Given the description of an element on the screen output the (x, y) to click on. 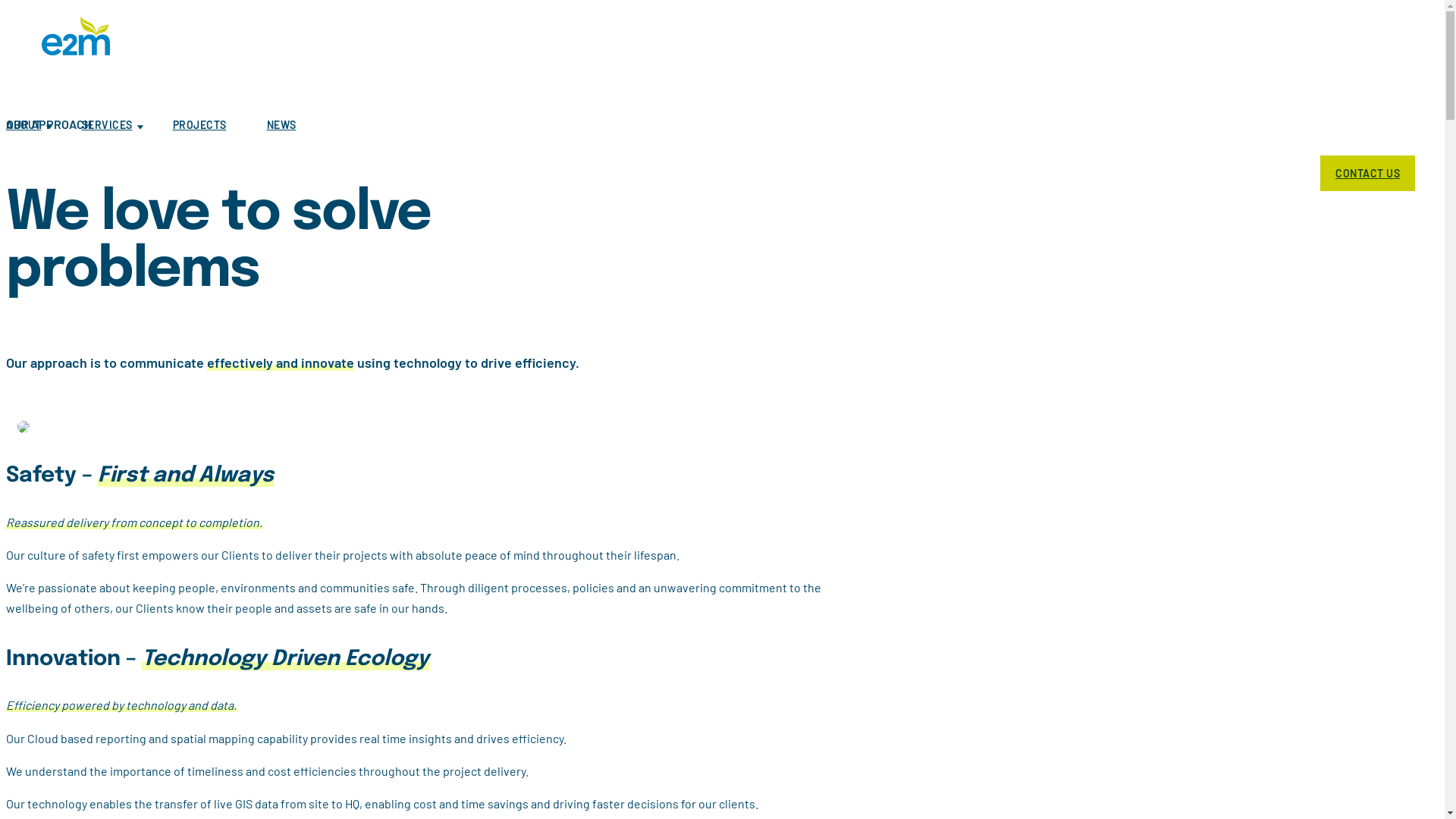
SERVICES Element type: text (125, 118)
PROJECTS Element type: text (218, 118)
CONTACT US Element type: text (1367, 173)
ABOUT Element type: text (42, 118)
NEWS Element type: text (300, 118)
